Given the description of an element on the screen output the (x, y) to click on. 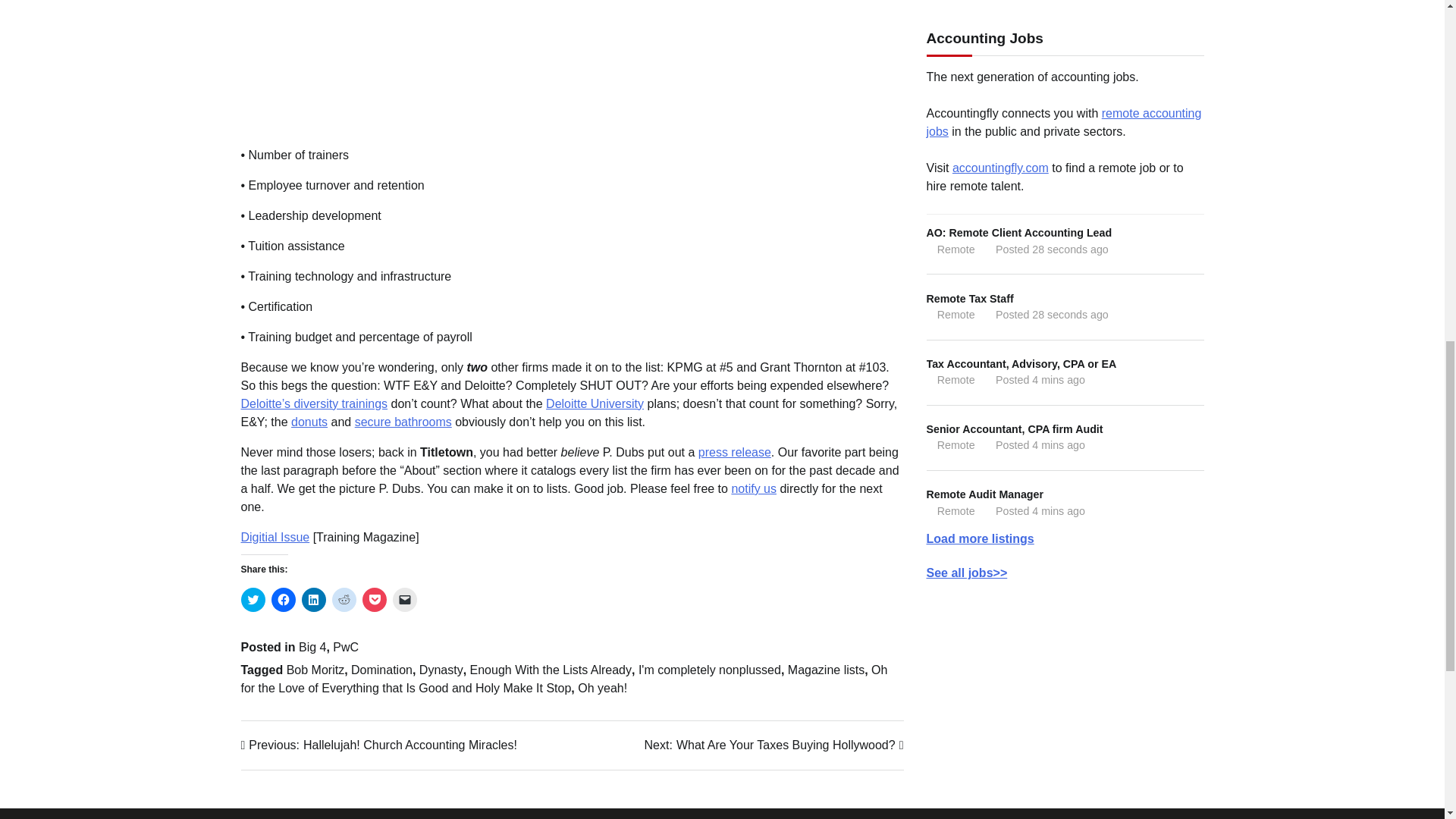
Click to share on Twitter (252, 599)
Click to email a link to a friend (404, 599)
Deloitte University (594, 403)
Click to share on LinkedIn (313, 599)
Digitial Issue (275, 536)
Click to share on Reddit (343, 599)
Click to share on Facebook (282, 599)
press release (734, 451)
donuts (309, 421)
notify us (753, 488)
